Given the description of an element on the screen output the (x, y) to click on. 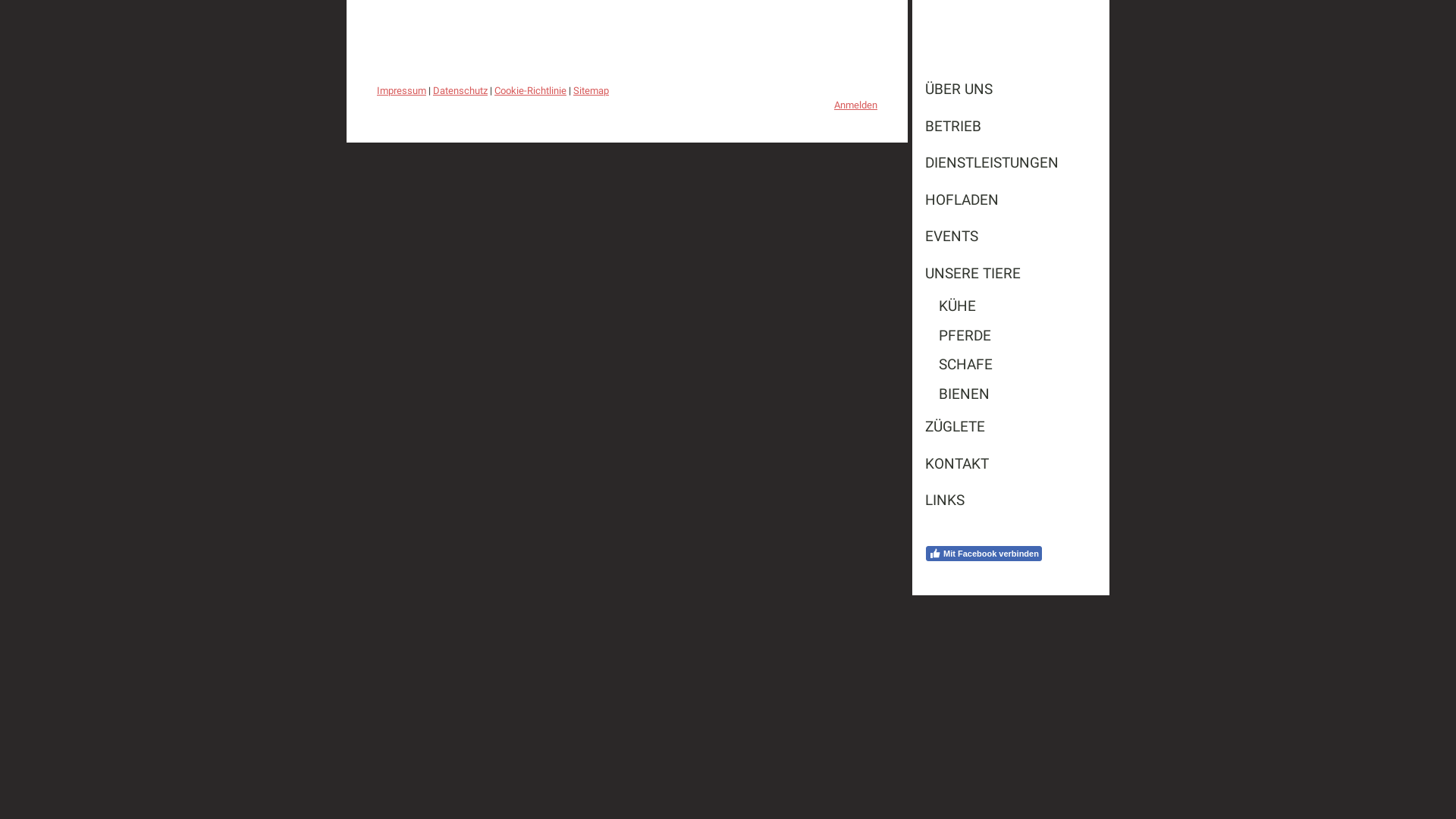
Cookie-Richtlinie Element type: text (530, 90)
Anmelden Element type: text (855, 104)
BIENEN Element type: text (1010, 393)
KONTAKT Element type: text (1010, 464)
UNSERE TIERE Element type: text (1010, 272)
Mit Facebook verbinden Element type: text (983, 553)
PFERDE Element type: text (1010, 336)
SCHAFE Element type: text (1010, 364)
Datenschutz Element type: text (460, 90)
Impressum Element type: text (401, 90)
HOFLADEN Element type: text (1010, 200)
Sitemap Element type: text (590, 90)
EVENTS Element type: text (1010, 236)
LINKS Element type: text (1010, 500)
DIENSTLEISTUNGEN Element type: text (1010, 163)
BETRIEB Element type: text (1010, 125)
